Given the description of an element on the screen output the (x, y) to click on. 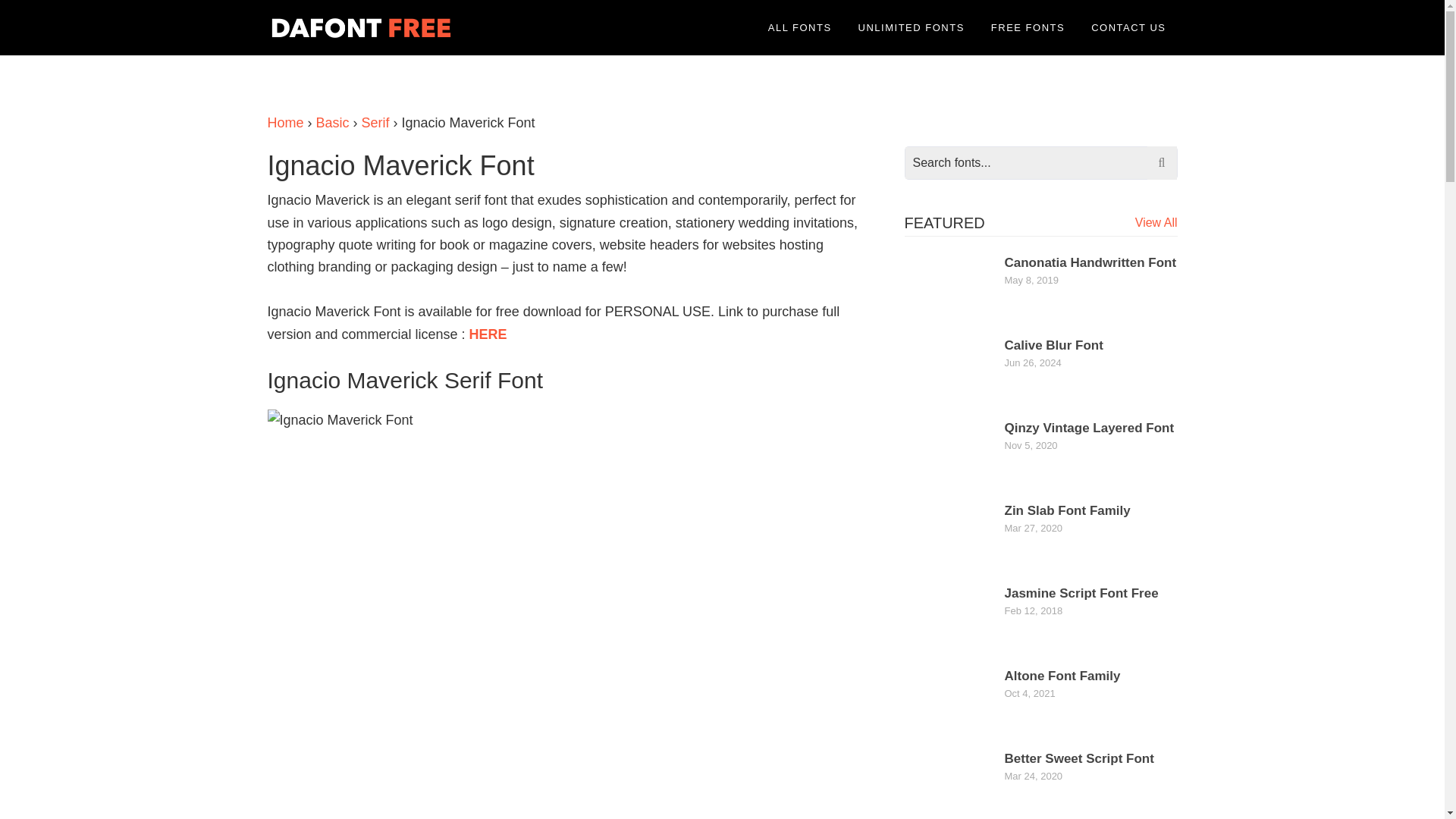
Serif (375, 122)
ALL FONTS (800, 27)
HERE (487, 334)
FREE FONTS (1027, 27)
UNLIMITED FONTS (911, 27)
CONTACT US (1128, 27)
Home (284, 122)
Basic (332, 122)
